Given the description of an element on the screen output the (x, y) to click on. 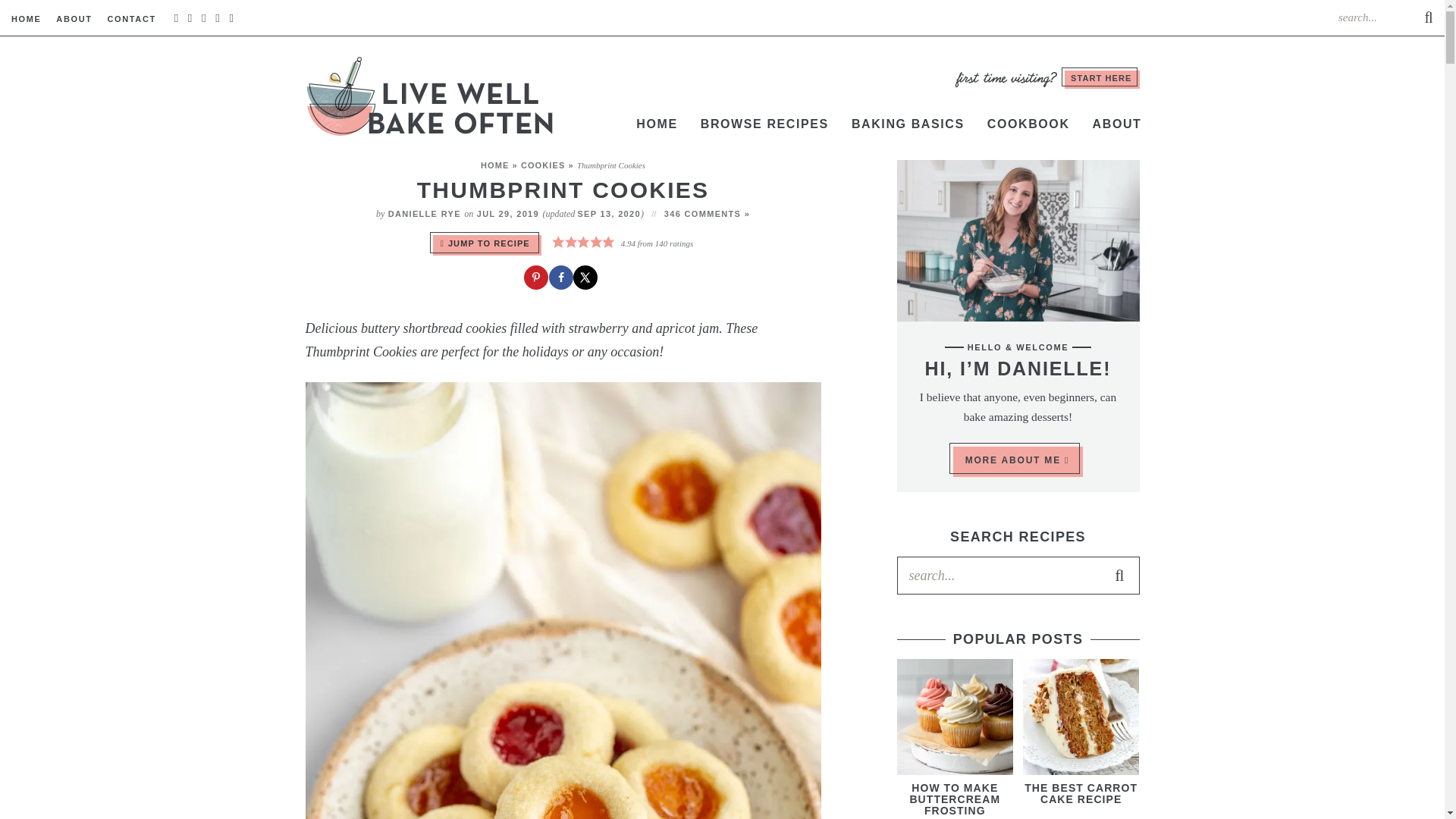
CONTACT (130, 17)
Save to Pinterest (537, 278)
START HERE (1101, 79)
COOKBOOK (1028, 124)
HOME (494, 164)
BROWSE RECIPES (764, 124)
DANIELLE RYE (424, 213)
JUMP TO RECIPE (486, 245)
BAKING BASICS (907, 124)
Share on Facebook (562, 278)
More About Me (1017, 240)
Share on X (586, 278)
COOKIES (542, 164)
Live Well Bake Often (430, 96)
HOME (26, 17)
